Given the description of an element on the screen output the (x, y) to click on. 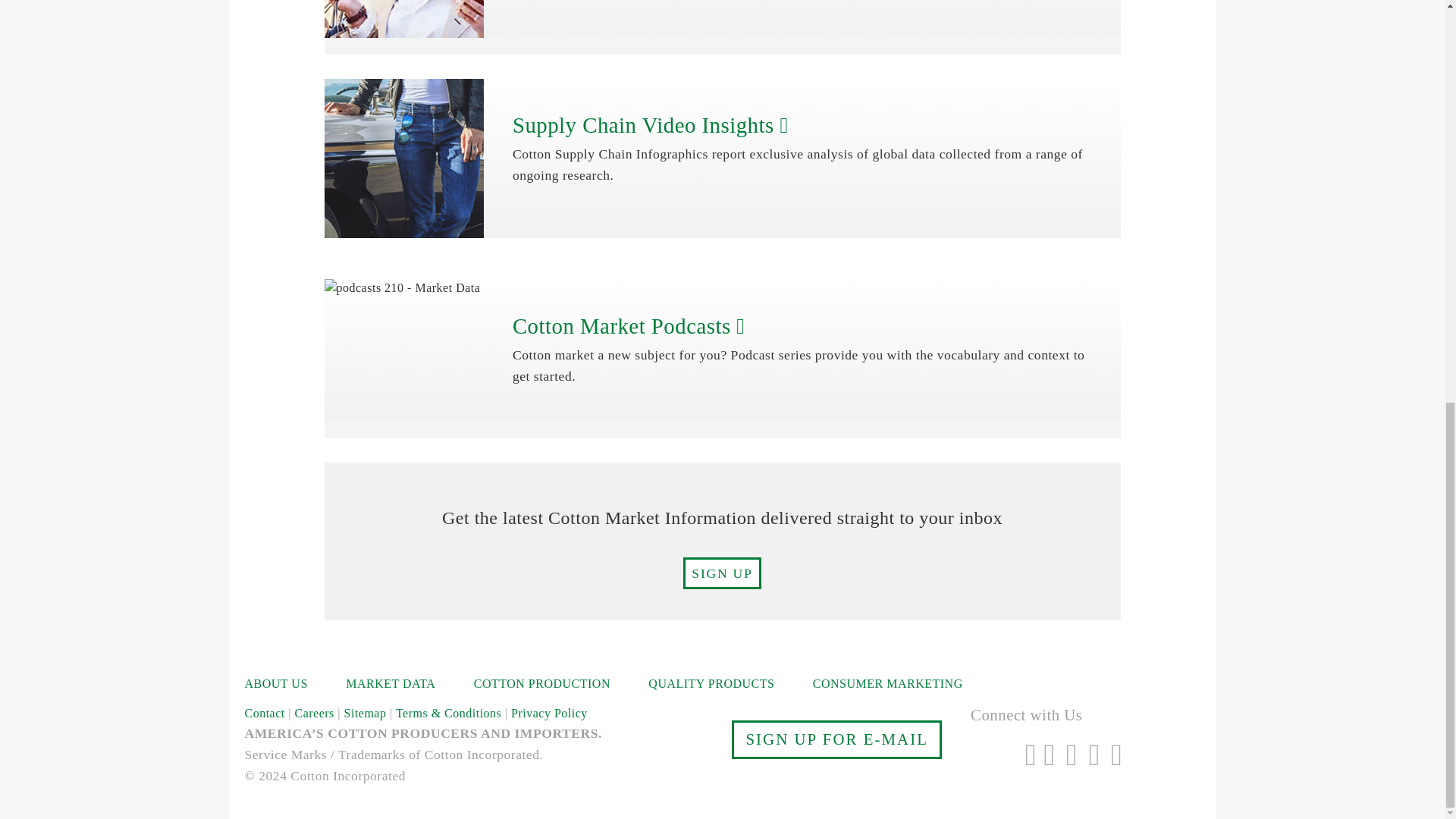
Got It (450, 65)
podcasts 210 - Market Data (403, 287)
Privacy Policy (340, 51)
insights 210 - Market Data (403, 18)
video insights 210 - Market Data (403, 158)
Terms and Conditions (218, 51)
